Given the description of an element on the screen output the (x, y) to click on. 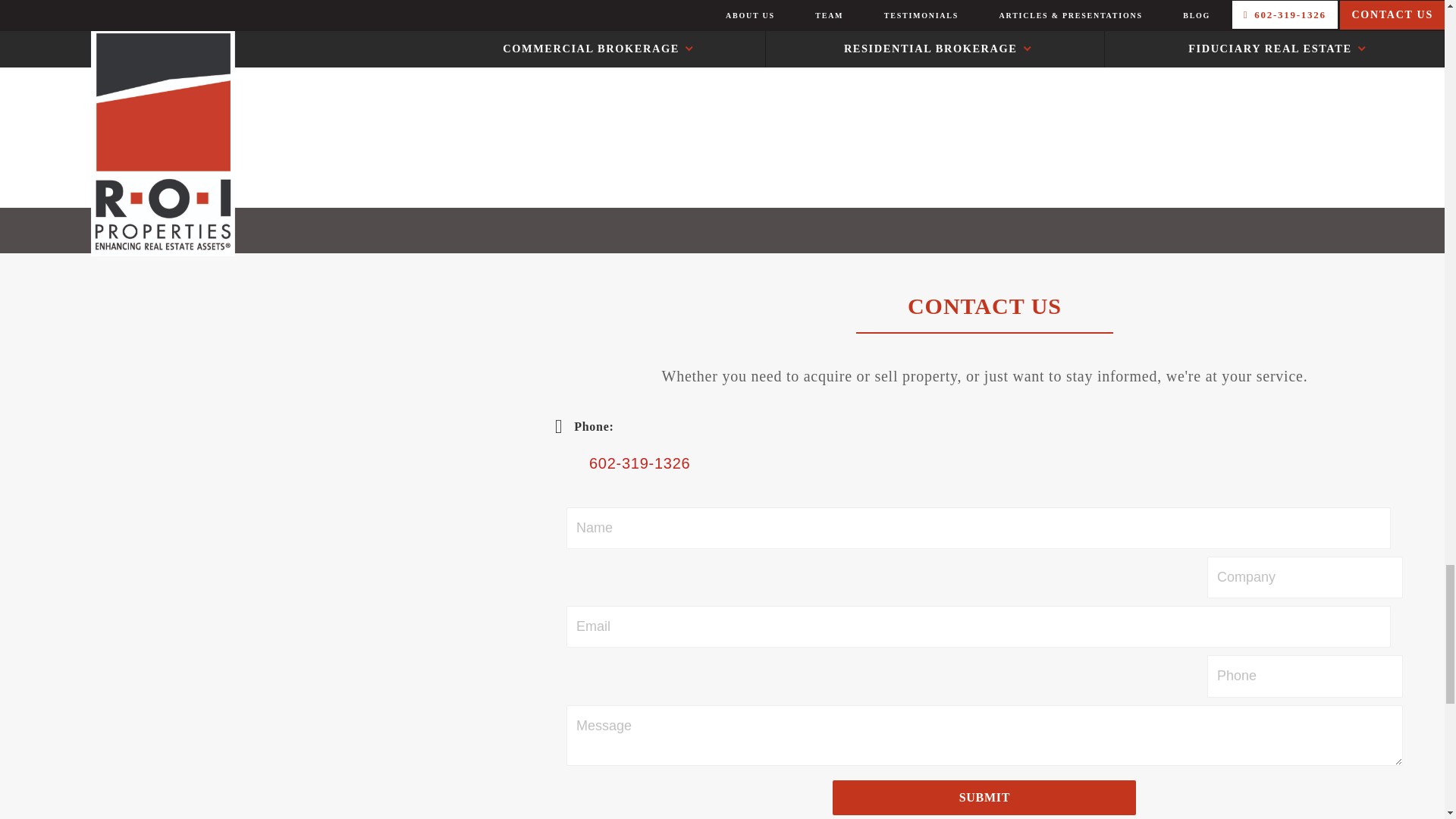
Submit (983, 797)
